Given the description of an element on the screen output the (x, y) to click on. 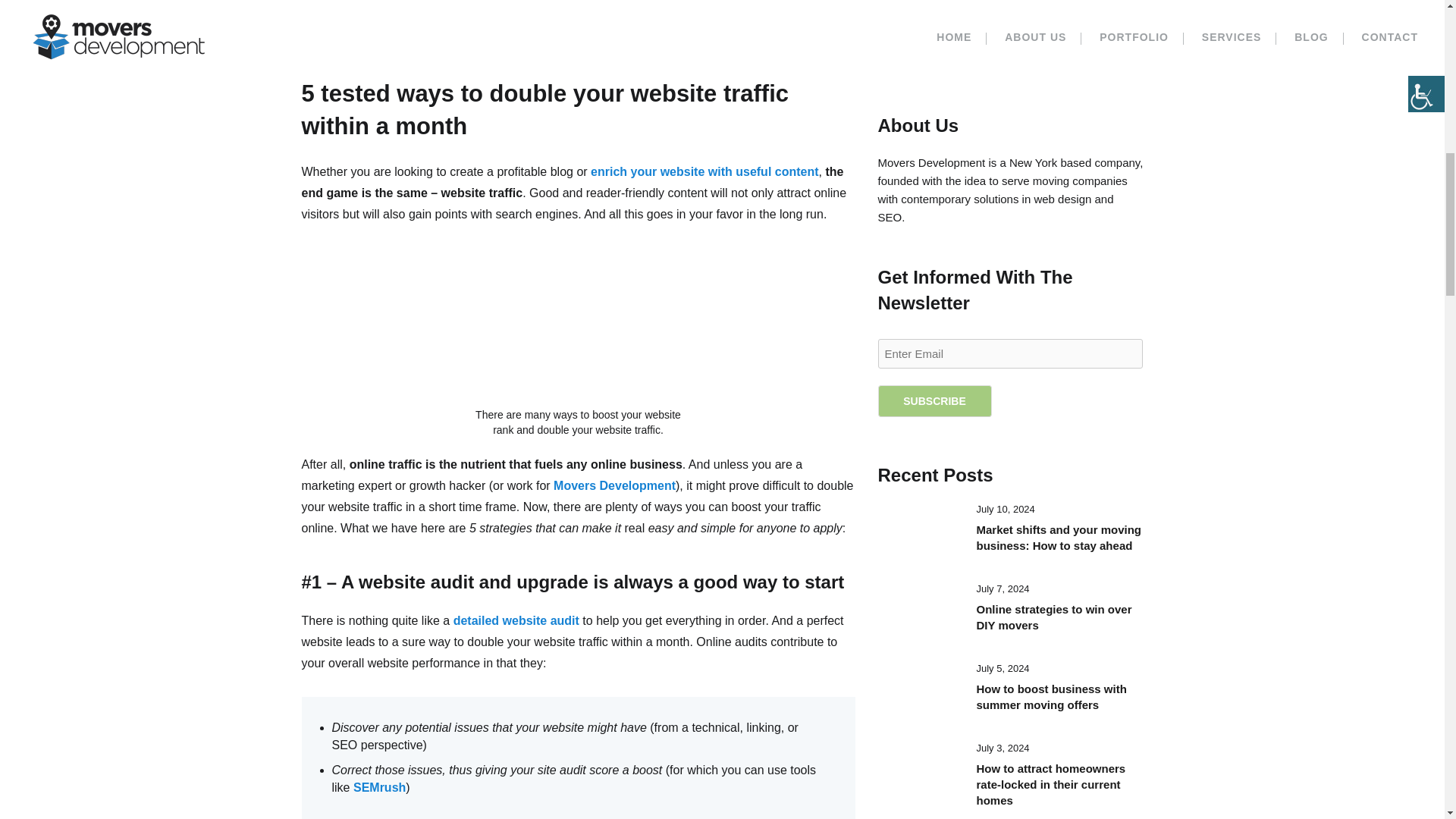
 How to boost business with summer moving offers (1051, 696)
 Online strategies to win over DIY movers (1054, 616)
customized SEO services for movers (408, 10)
Online strategies to win over DIY movers (918, 612)
How to boost business with summer moving offers (918, 692)
Subscribe (934, 400)
 Market shifts and your moving business: How to stay ahead (1058, 537)
detailed website audit (515, 620)
SEMrush (379, 787)
How to attract homeowners rate-locked in their current homes (918, 771)
Market shifts and your moving business: How to stay ahead (918, 532)
enrich your website with useful content (704, 171)
Movers Development (614, 485)
